Given the description of an element on the screen output the (x, y) to click on. 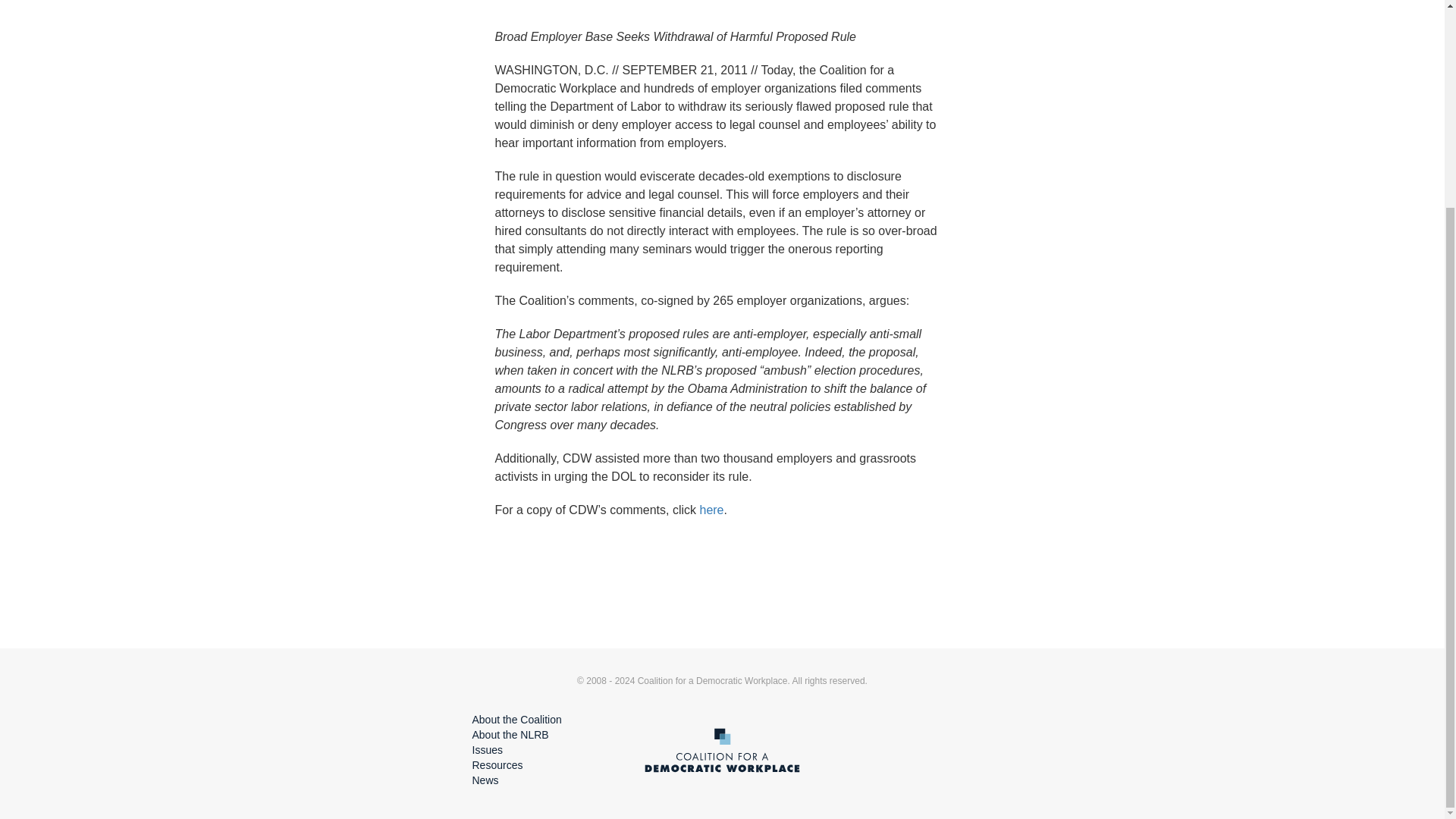
Issues (486, 749)
here (710, 509)
About the Coalition (515, 719)
About the NLRB (509, 734)
News (484, 779)
Resources (496, 765)
